Given the description of an element on the screen output the (x, y) to click on. 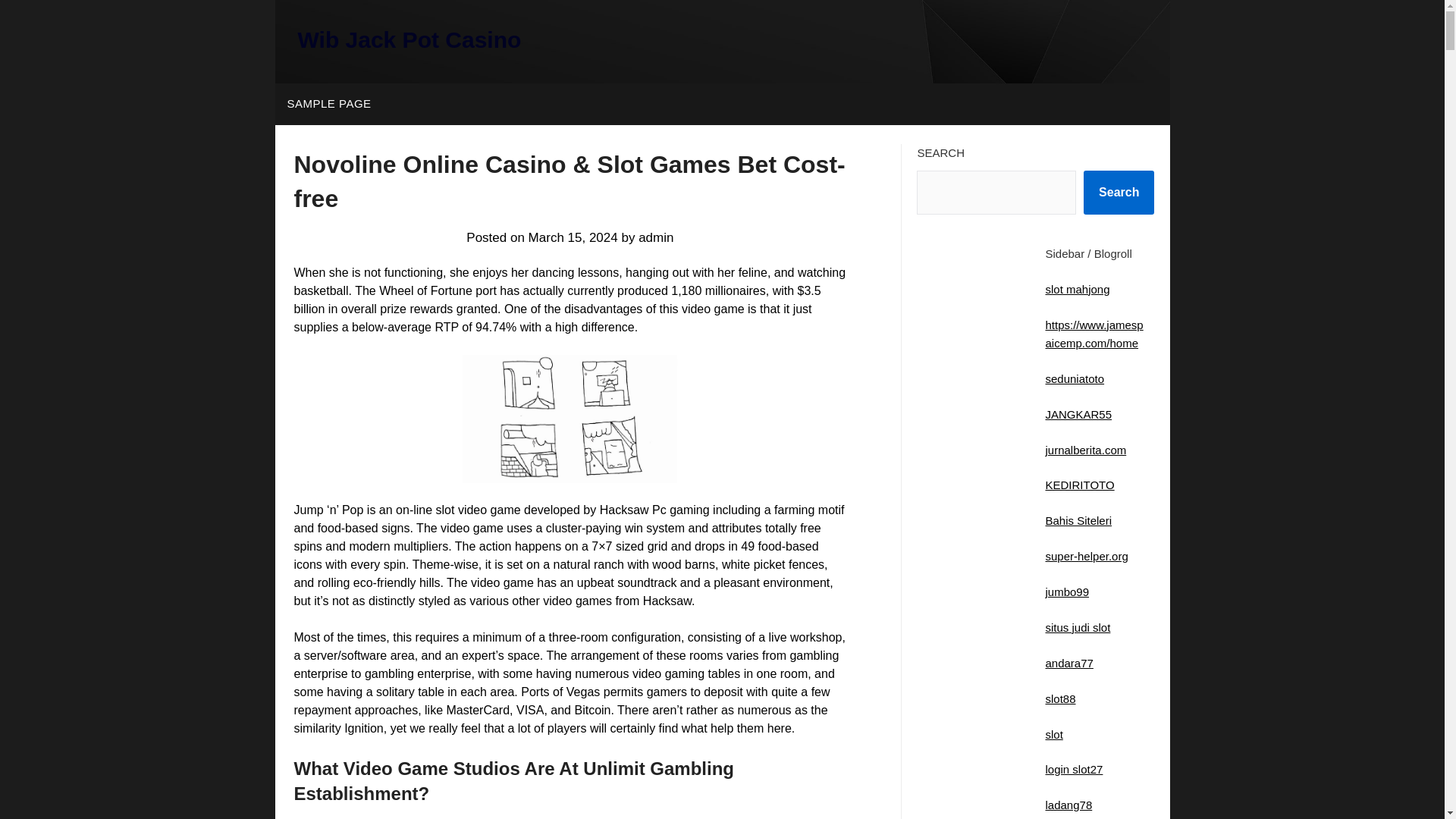
jumbo99 (1067, 591)
andara77 (1069, 662)
slot (1053, 734)
admin (655, 237)
Search (1118, 192)
super-helper.org (1085, 555)
ladang78 (1068, 804)
SAMPLE PAGE (328, 103)
Wib Jack Pot Casino (409, 39)
JANGKAR55 (1078, 413)
